Given the description of an element on the screen output the (x, y) to click on. 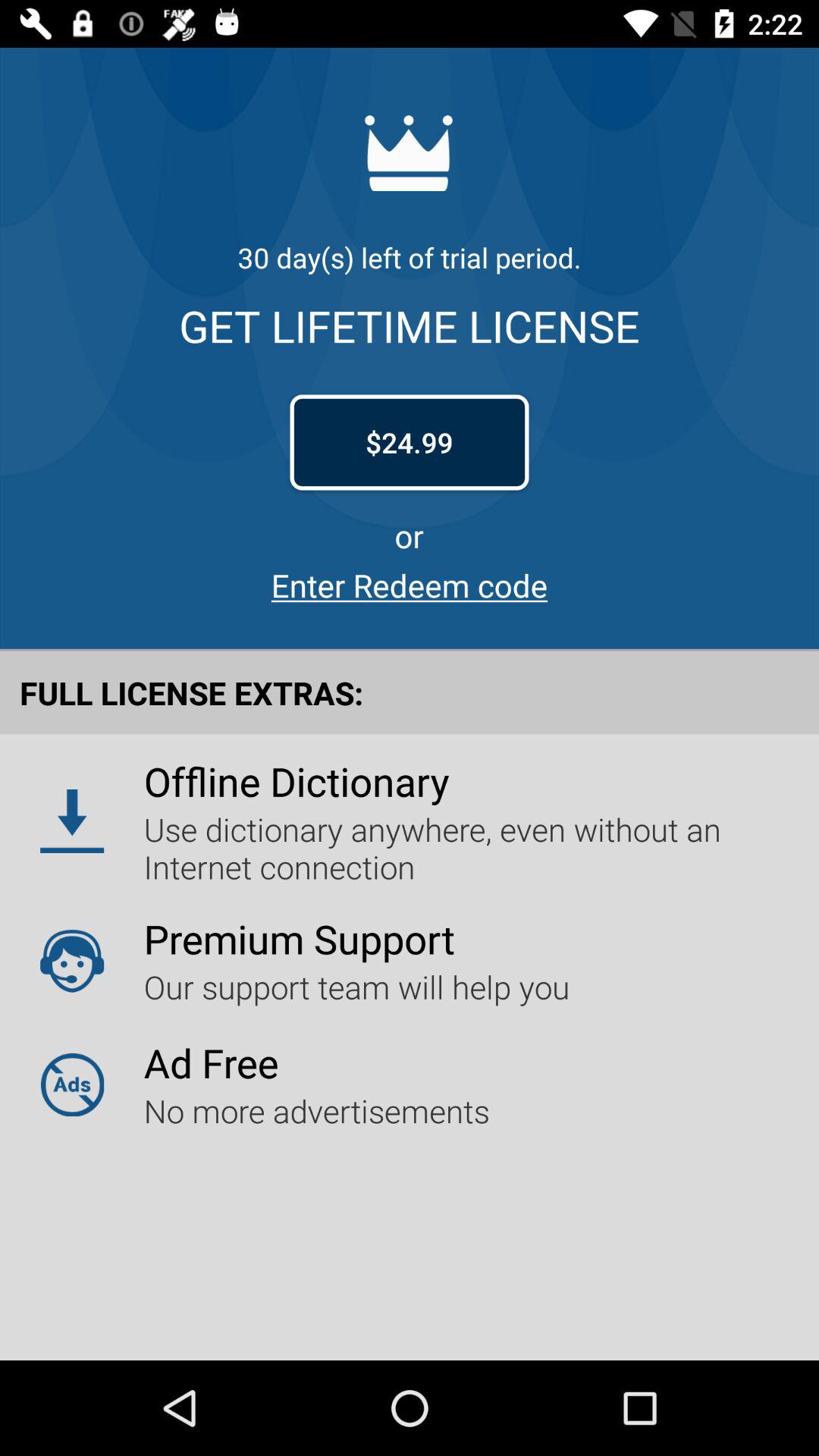
tap the enter redeem code icon (409, 584)
